Given the description of an element on the screen output the (x, y) to click on. 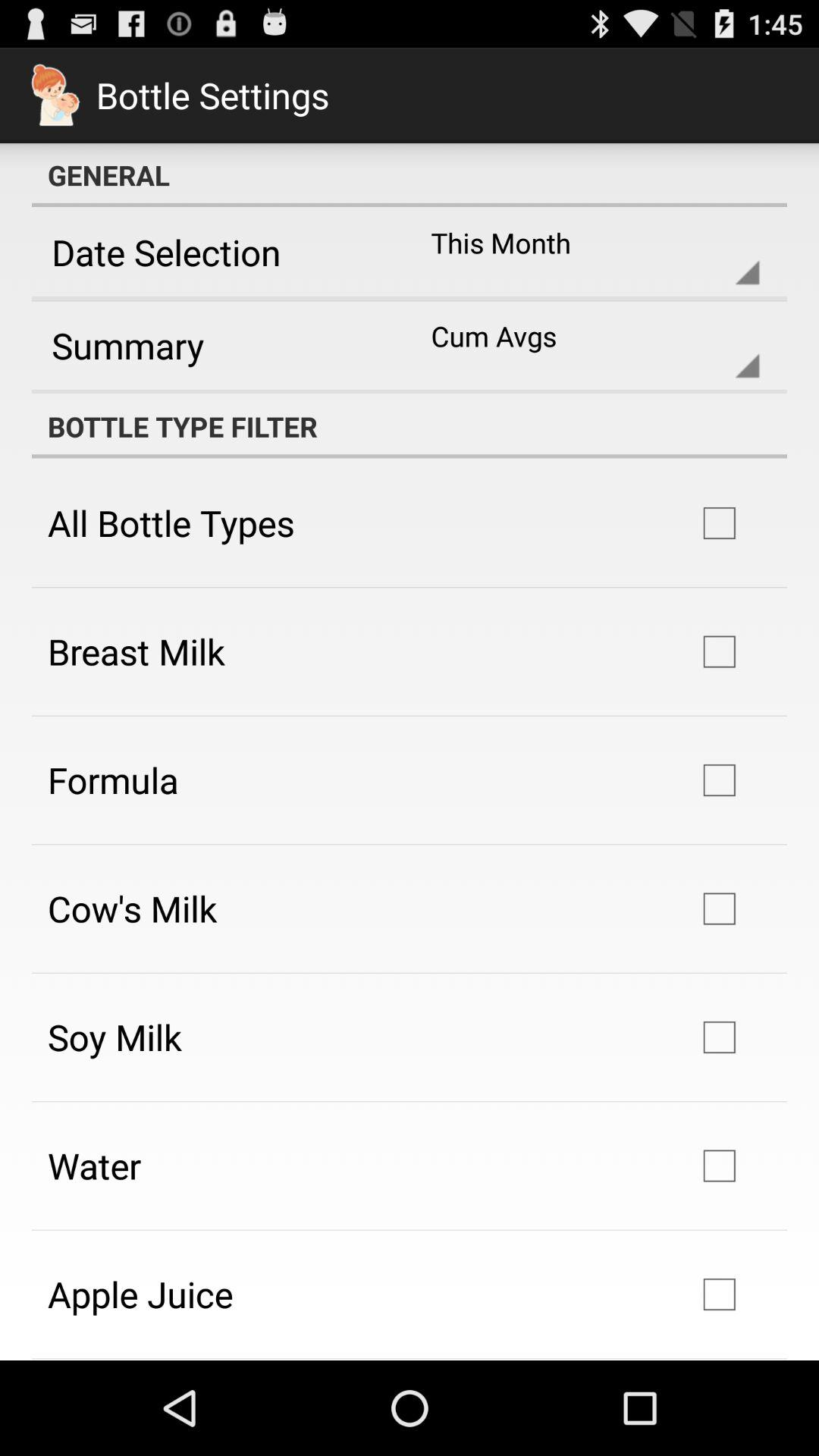
turn off the item above the soy milk app (132, 908)
